Given the description of an element on the screen output the (x, y) to click on. 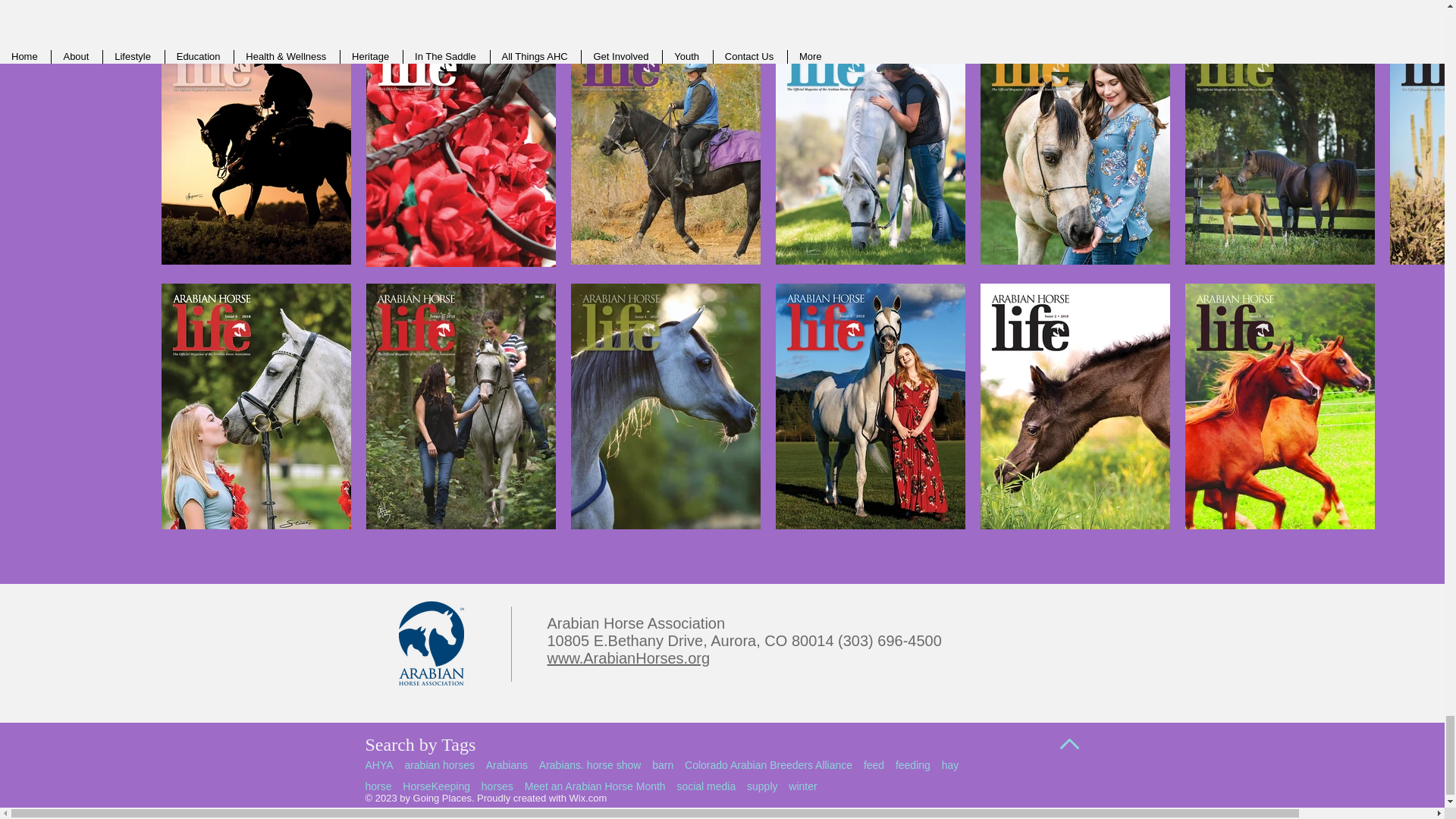
Arabians (506, 764)
feeding (912, 764)
feed (873, 764)
Arabians. horse show (590, 764)
AHYA (379, 764)
Colorado Arabian Breeders Alliance (767, 764)
arabian horses (439, 764)
barn (662, 764)
